Given the description of an element on the screen output the (x, y) to click on. 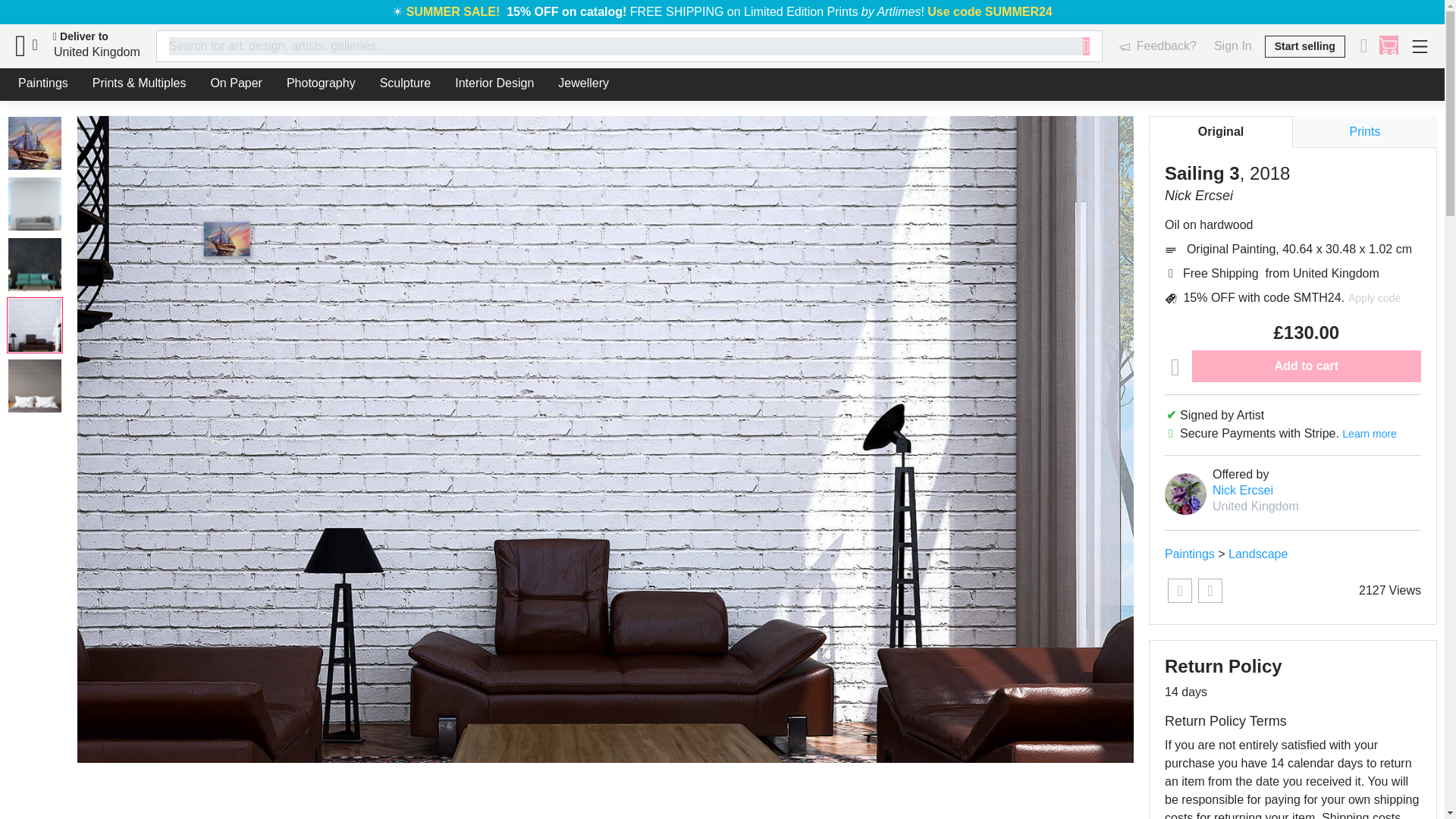
Feedback? (1157, 46)
Jewellery (583, 83)
Landscape (1257, 553)
Paintings (1189, 553)
Prints (1364, 132)
On Paper (235, 83)
Paintings (42, 83)
Nick Ercsei (1242, 490)
Sculpture (406, 83)
Sign In (1232, 46)
Photography (321, 83)
Apply code (1374, 298)
Start selling (1305, 45)
Learn more (1369, 433)
Add to cart (1306, 366)
